Given the description of an element on the screen output the (x, y) to click on. 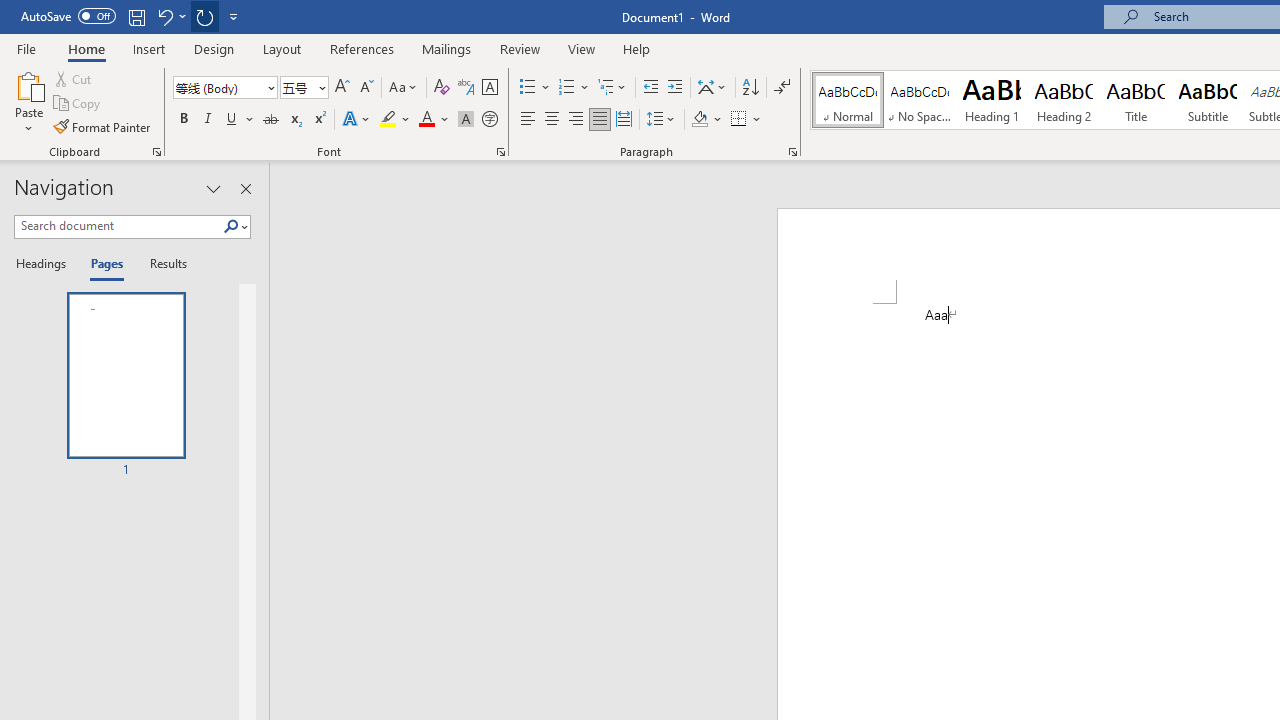
AutoSave (68, 16)
Character Border (489, 87)
Help (637, 48)
Pages (105, 264)
Strikethrough (270, 119)
Superscript (319, 119)
Save (136, 15)
Copy (78, 103)
Shading RGB(0, 0, 0) (699, 119)
Distributed (623, 119)
Text Highlight Color (395, 119)
Shrink Font (365, 87)
Heading 1 (991, 100)
Close pane (246, 188)
